Given the description of an element on the screen output the (x, y) to click on. 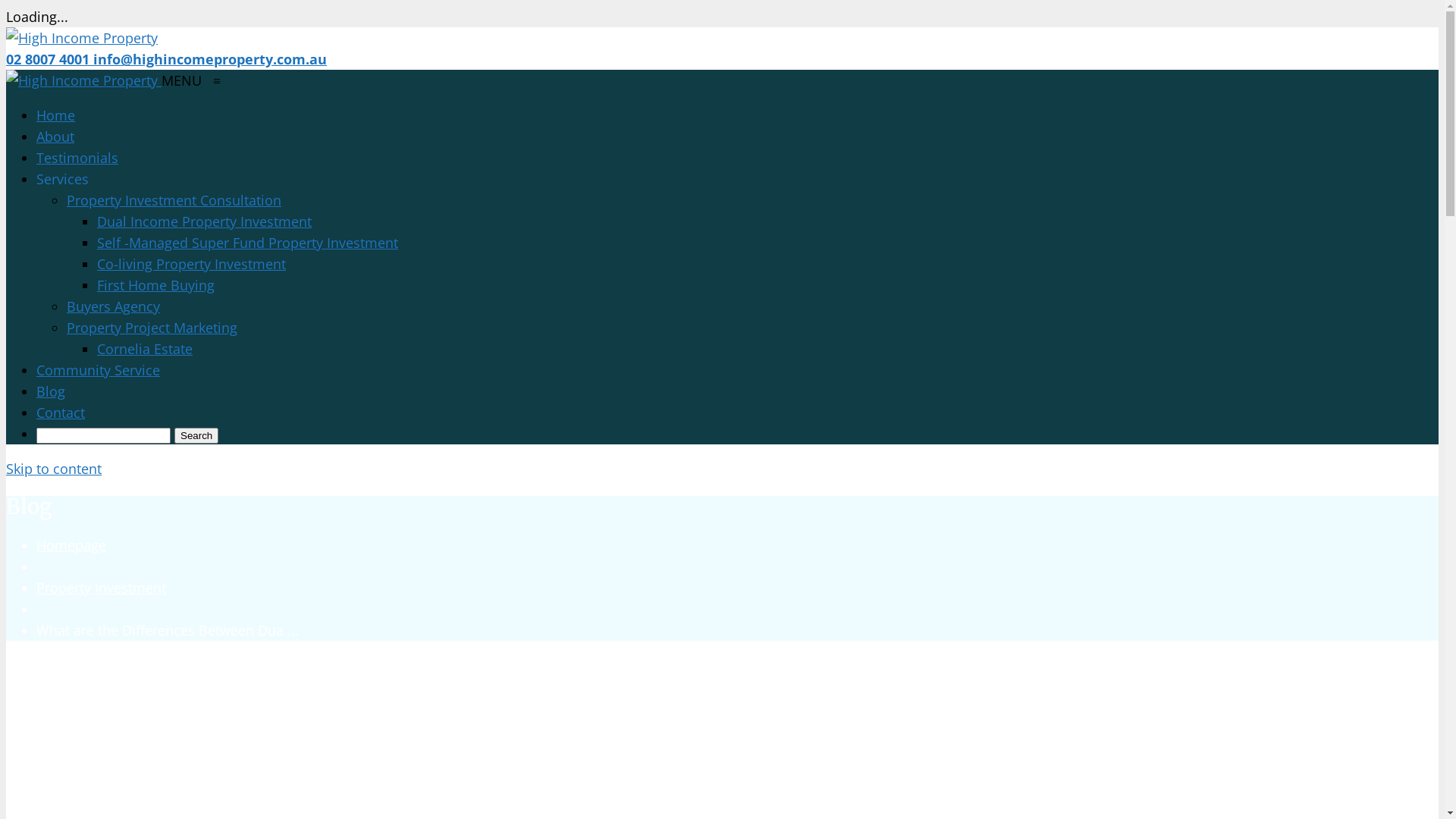
Property Project Marketing Element type: text (151, 327)
Dual Income Property Investment Element type: text (204, 221)
Testimonials Element type: text (77, 157)
Home Element type: text (55, 115)
About Element type: text (55, 136)
info@highincomeproperty.com.au Element type: text (209, 59)
Property Investment Element type: text (101, 587)
02 8007 4001 Element type: text (49, 59)
Blog Element type: text (50, 391)
Search Element type: text (196, 435)
Homepage Element type: text (71, 545)
Contact Element type: text (60, 412)
Community Service Element type: text (98, 369)
Skip to content Element type: text (53, 468)
Services Element type: text (62, 178)
High Income Property Element type: hover (83, 80)
Buyers Agency Element type: text (113, 306)
First Home Buying Element type: text (155, 285)
Cornelia Estate Element type: text (144, 348)
Property Investment Consultation Element type: text (173, 200)
Self -Managed Super Fund Property Investment Element type: text (247, 242)
Co-living Property Investment Element type: text (191, 263)
